Given the description of an element on the screen output the (x, y) to click on. 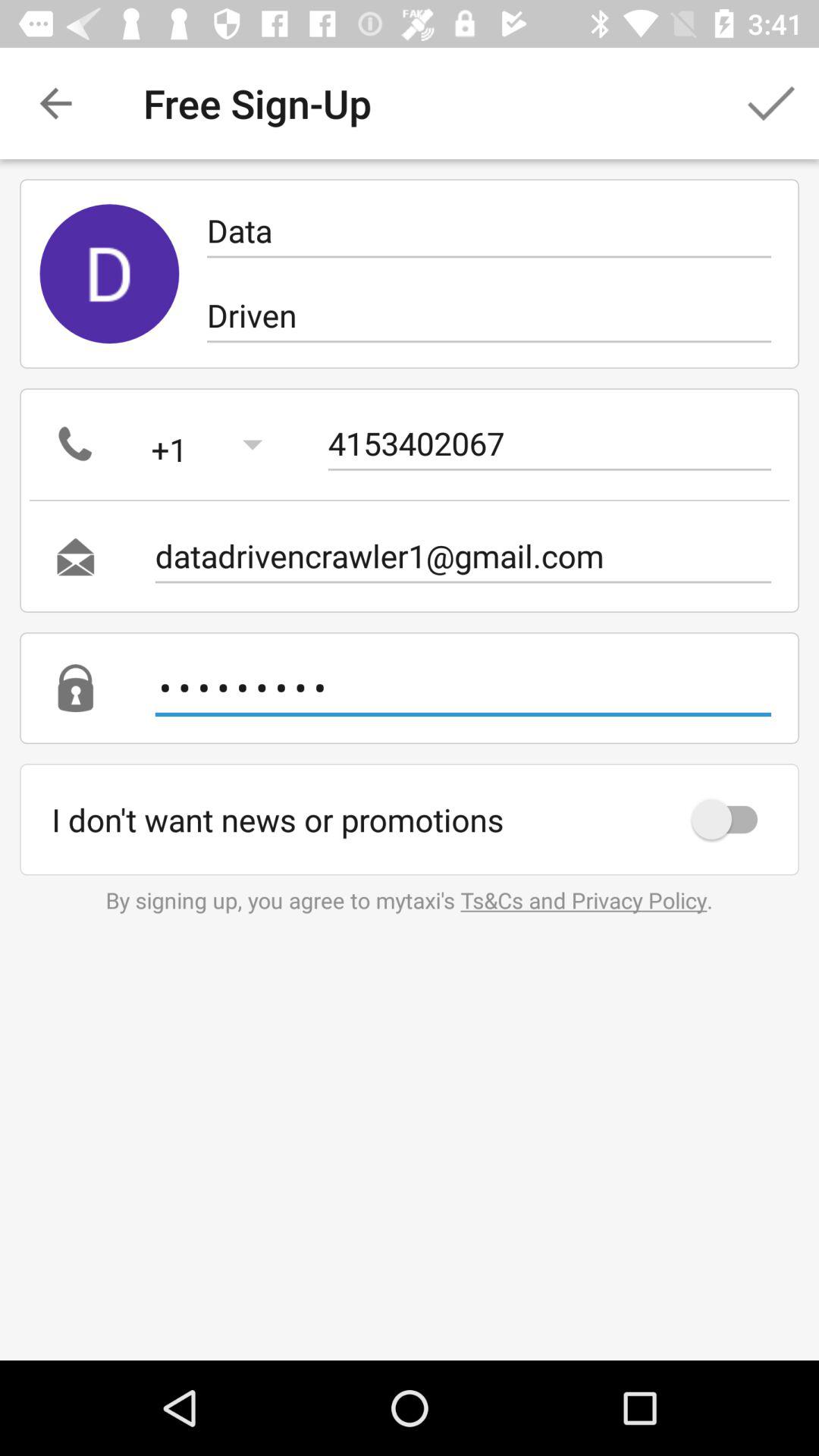
flip until the driven item (489, 315)
